Given the description of an element on the screen output the (x, y) to click on. 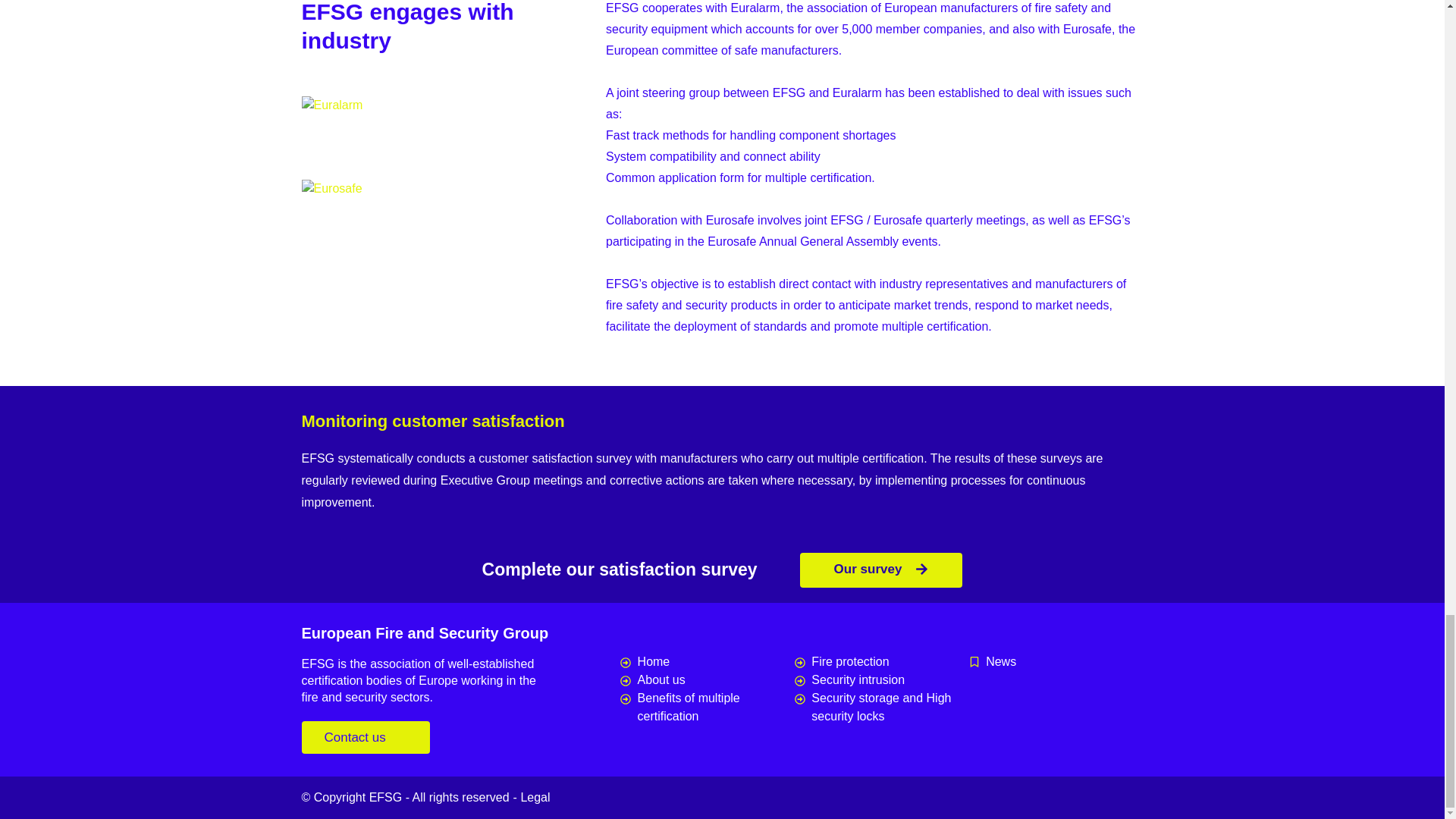
Fire protection (881, 661)
Benefits of multiple certification (707, 707)
Security storage and High security locks (881, 707)
News (1055, 661)
- Legal (531, 797)
Our survey (880, 570)
About us (707, 679)
Contact us (365, 737)
Home (707, 661)
Security intrusion (881, 679)
